Given the description of an element on the screen output the (x, y) to click on. 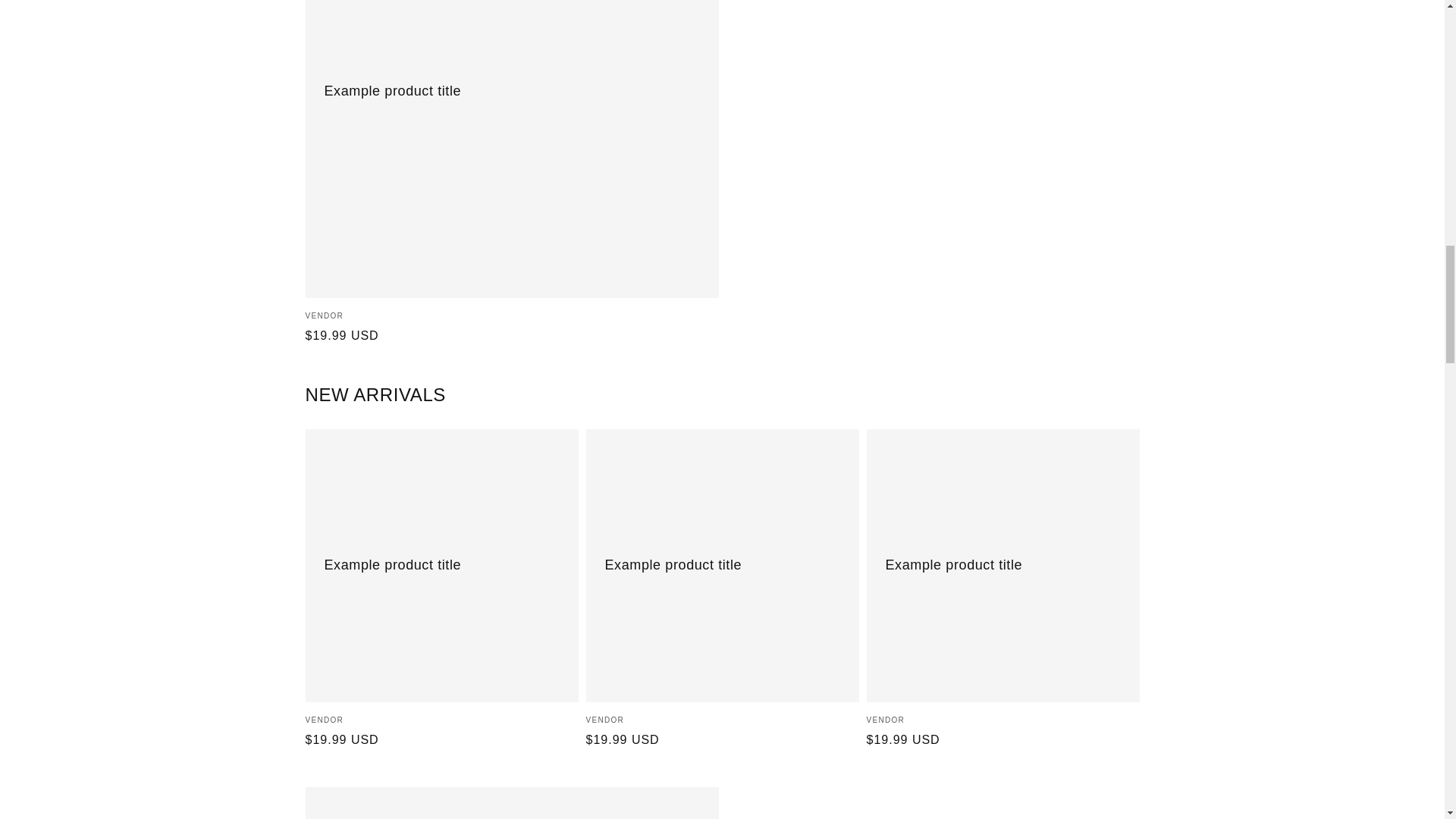
Example product title (510, 803)
